Given the description of an element on the screen output the (x, y) to click on. 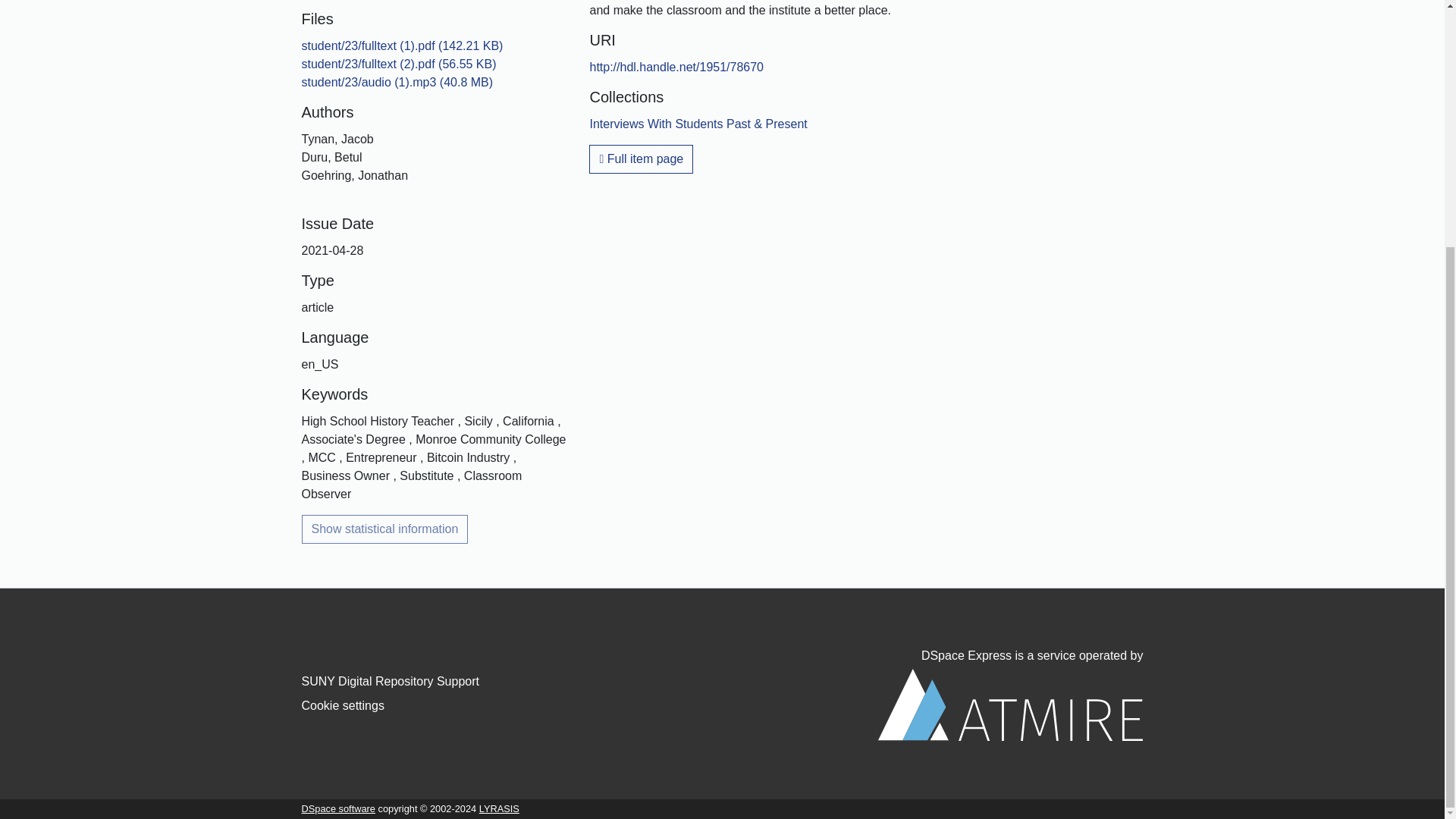
DSpace software (338, 808)
LYRASIS (499, 808)
Show statistical information (384, 529)
DSpace Express is a service operated by (1009, 695)
Full item page (641, 158)
SUNY Digital Repository Support (390, 680)
Cookie settings (342, 705)
